Given the description of an element on the screen output the (x, y) to click on. 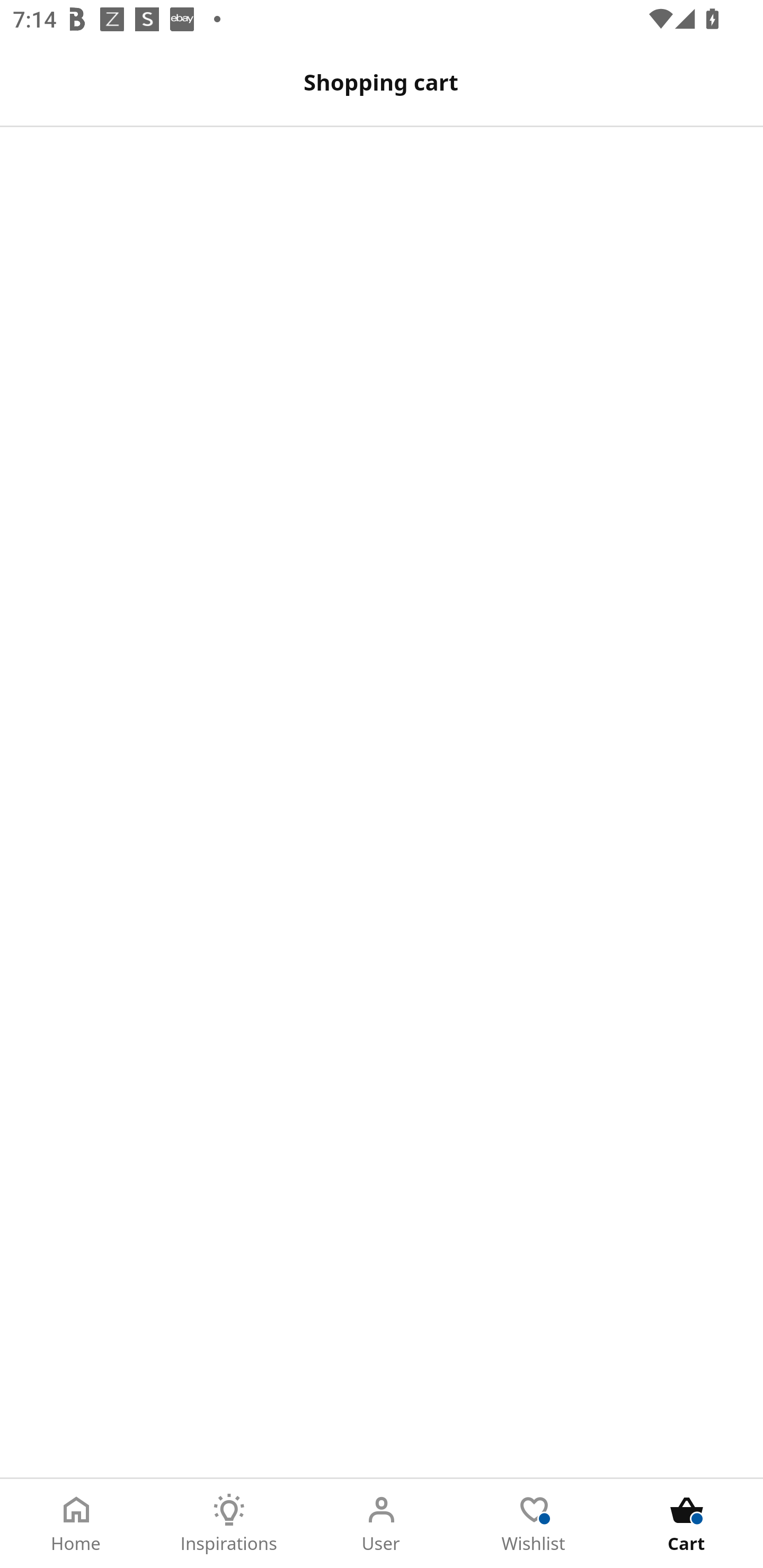
Home
Tab 1 of 5 (76, 1522)
Inspirations
Tab 2 of 5 (228, 1522)
User
Tab 3 of 5 (381, 1522)
Wishlist
Tab 4 of 5 (533, 1522)
Cart
Tab 5 of 5 (686, 1522)
